Given the description of an element on the screen output the (x, y) to click on. 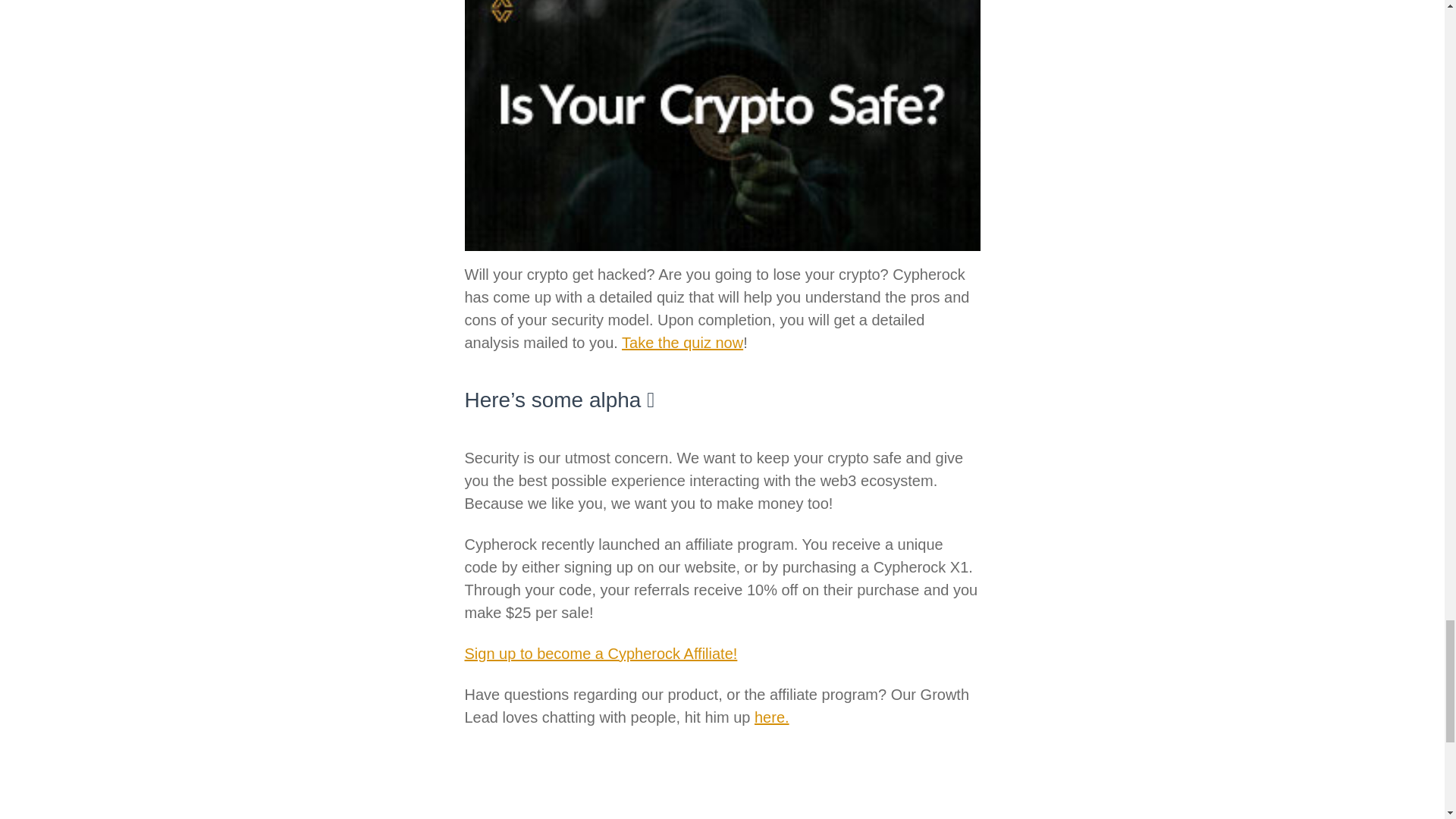
Sign up to become a Cypherock Affiliate! (600, 653)
Take the quiz now (681, 342)
here. (771, 717)
